Given the description of an element on the screen output the (x, y) to click on. 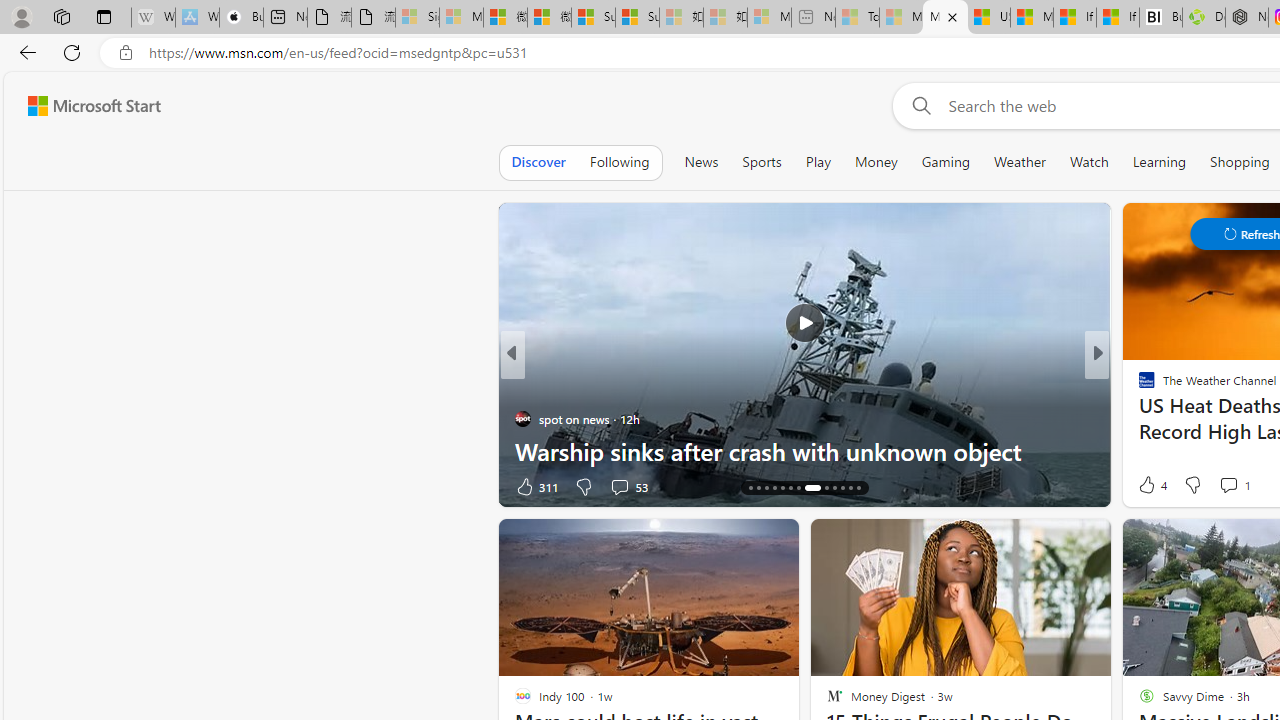
The Register (1138, 418)
ChaChingQueen (1138, 386)
AutomationID: tab-20 (797, 487)
View comments 11 Comment (11, 485)
AutomationID: tab-19 (789, 487)
